Given the description of an element on the screen output the (x, y) to click on. 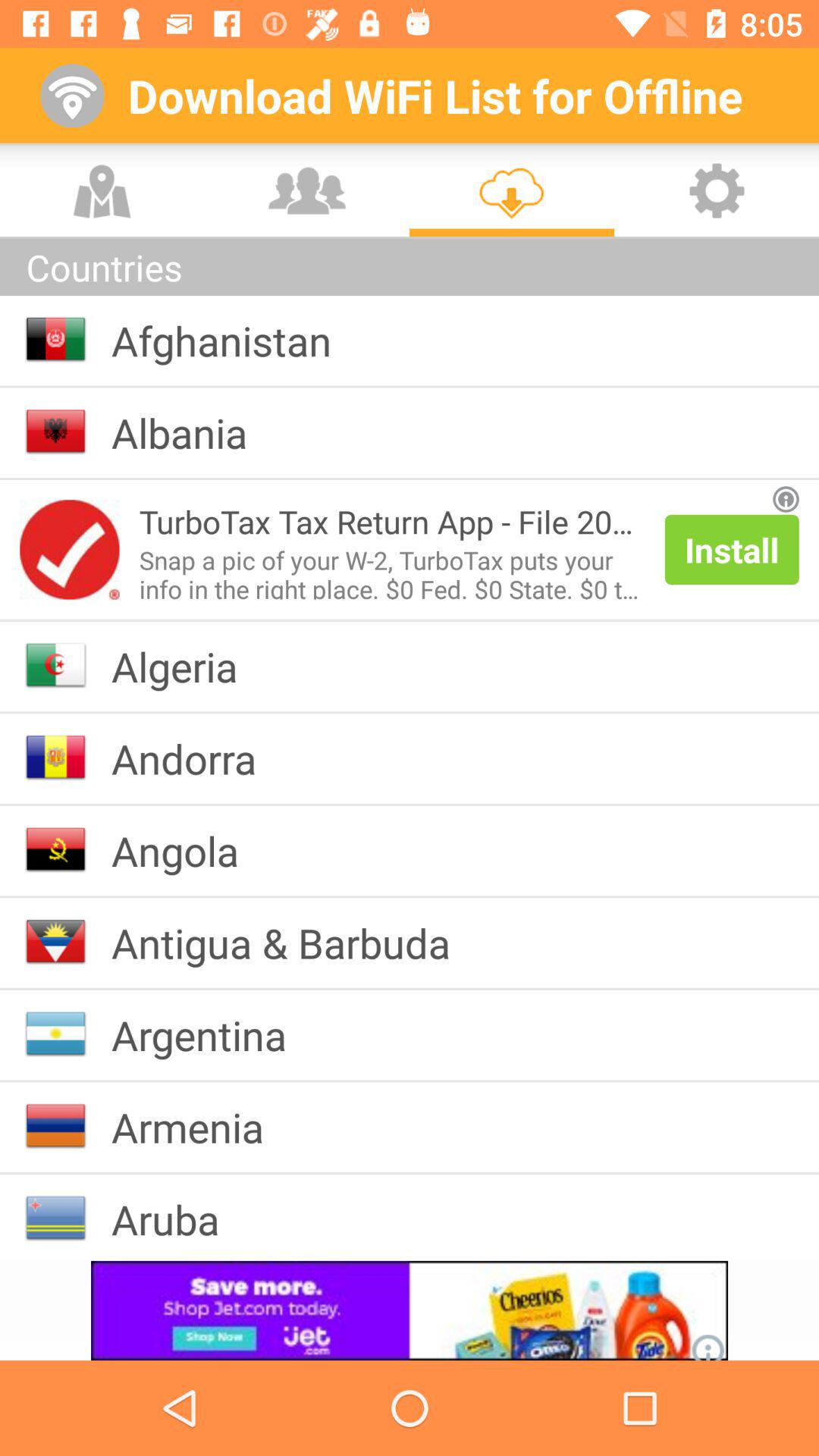
scroll until install icon (731, 549)
